Given the description of an element on the screen output the (x, y) to click on. 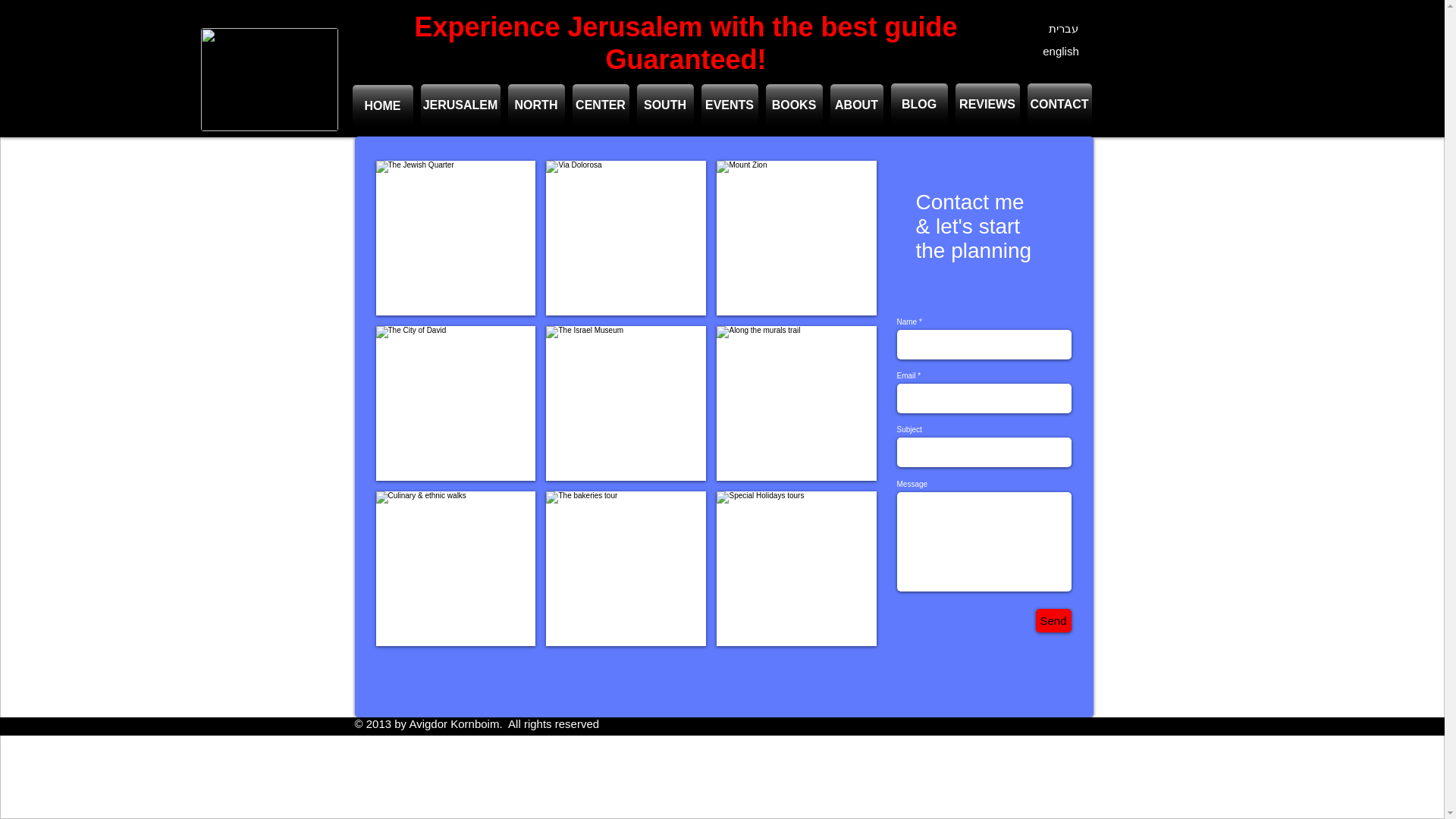
CONTACT (1058, 104)
CENTER (600, 105)
HOME (382, 105)
Send (1053, 620)
ABOUT (855, 105)
NORTH (536, 105)
english (1060, 50)
JERUSALEM (459, 105)
BLOG (918, 104)
REVIEWS (987, 104)
